Given the description of an element on the screen output the (x, y) to click on. 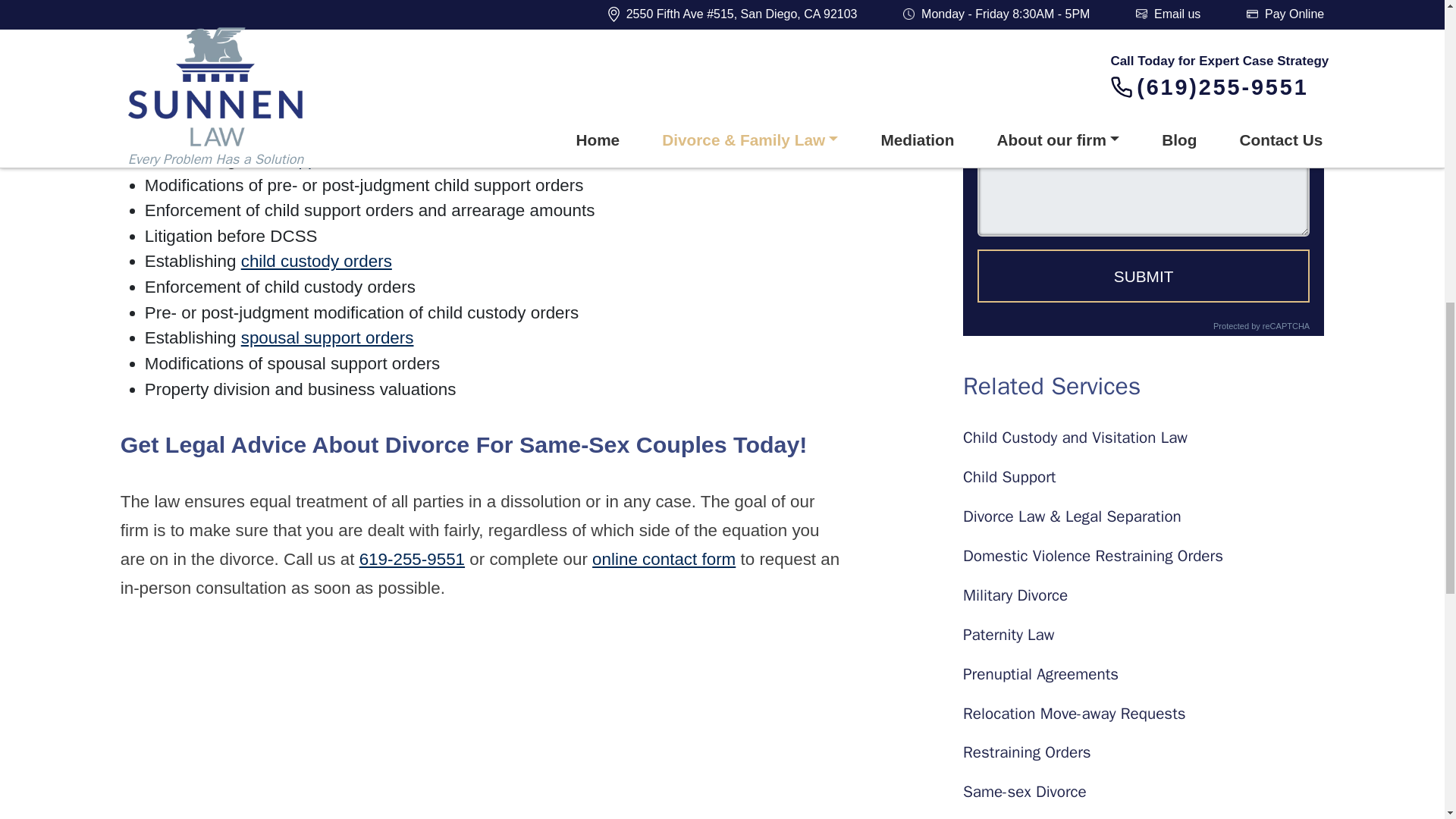
online contact form (663, 558)
Paternity Law (1142, 635)
Restraining Orders (1142, 752)
SUBMIT (1142, 275)
Relocation Move-away Requests (1142, 713)
Same-sex Divorce (1142, 791)
Child Support (1142, 477)
SUBMIT (1142, 275)
spousal support orders (327, 337)
619-255-9551 (411, 558)
Child Custody and Visitation Law (1142, 437)
Military Divorce (1142, 595)
Domestic Violence Restraining Orders (1142, 556)
Child Support (1142, 477)
child support orders (315, 158)
